Given the description of an element on the screen output the (x, y) to click on. 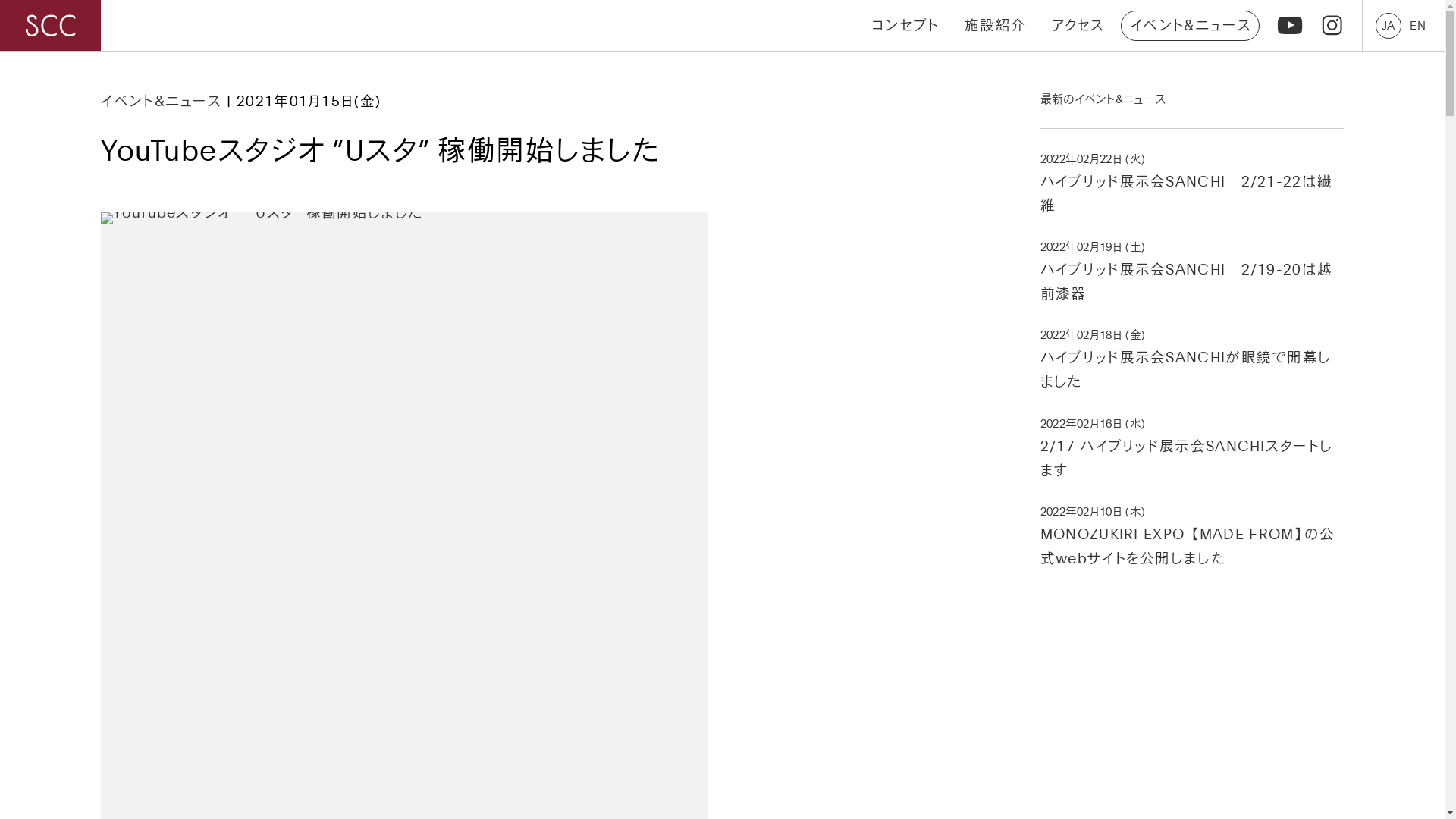
JA Element type: text (1388, 24)
EN Element type: text (1417, 24)
